Given the description of an element on the screen output the (x, y) to click on. 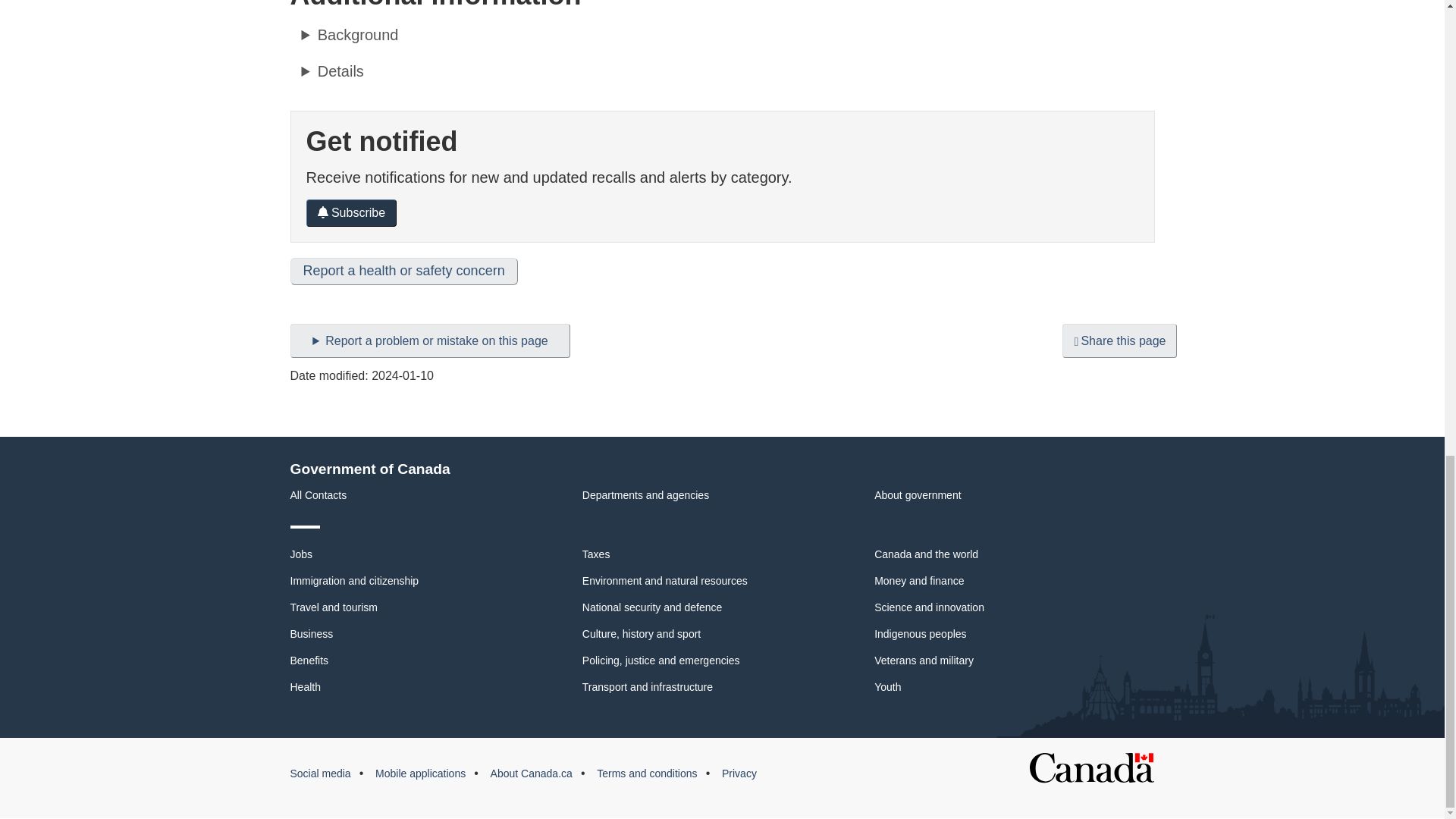
Health (304, 686)
National security and defence section. (652, 607)
About government (917, 494)
Immigration and citizenship (354, 580)
Canada and the world (926, 553)
Report a health or safety concern (402, 271)
Immigration and citizenship section. (354, 580)
Benefits section. (309, 660)
Benefits (309, 660)
Health section. (304, 686)
Veterans and military (924, 660)
All Contacts (317, 494)
Departments and agencies section. (645, 494)
Subscribe (351, 212)
Share this page (1119, 340)
